Given the description of an element on the screen output the (x, y) to click on. 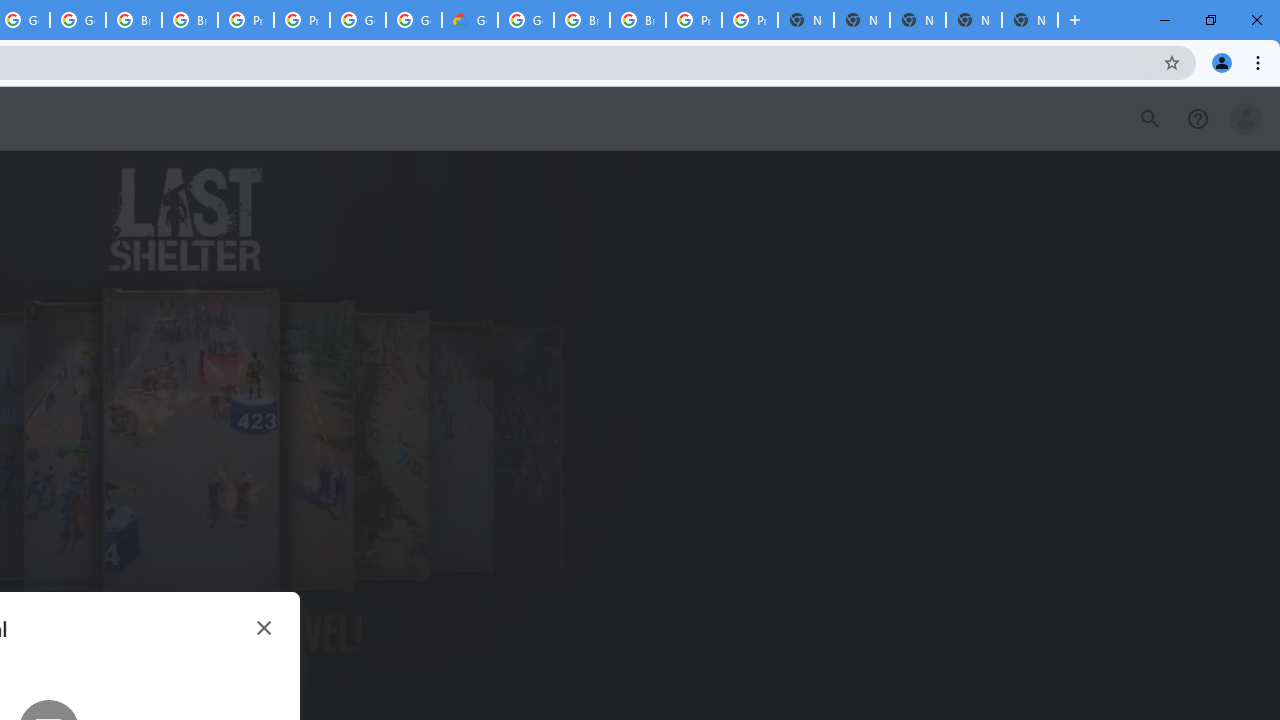
New Tab (1030, 20)
Google Cloud Platform (358, 20)
